Given the description of an element on the screen output the (x, y) to click on. 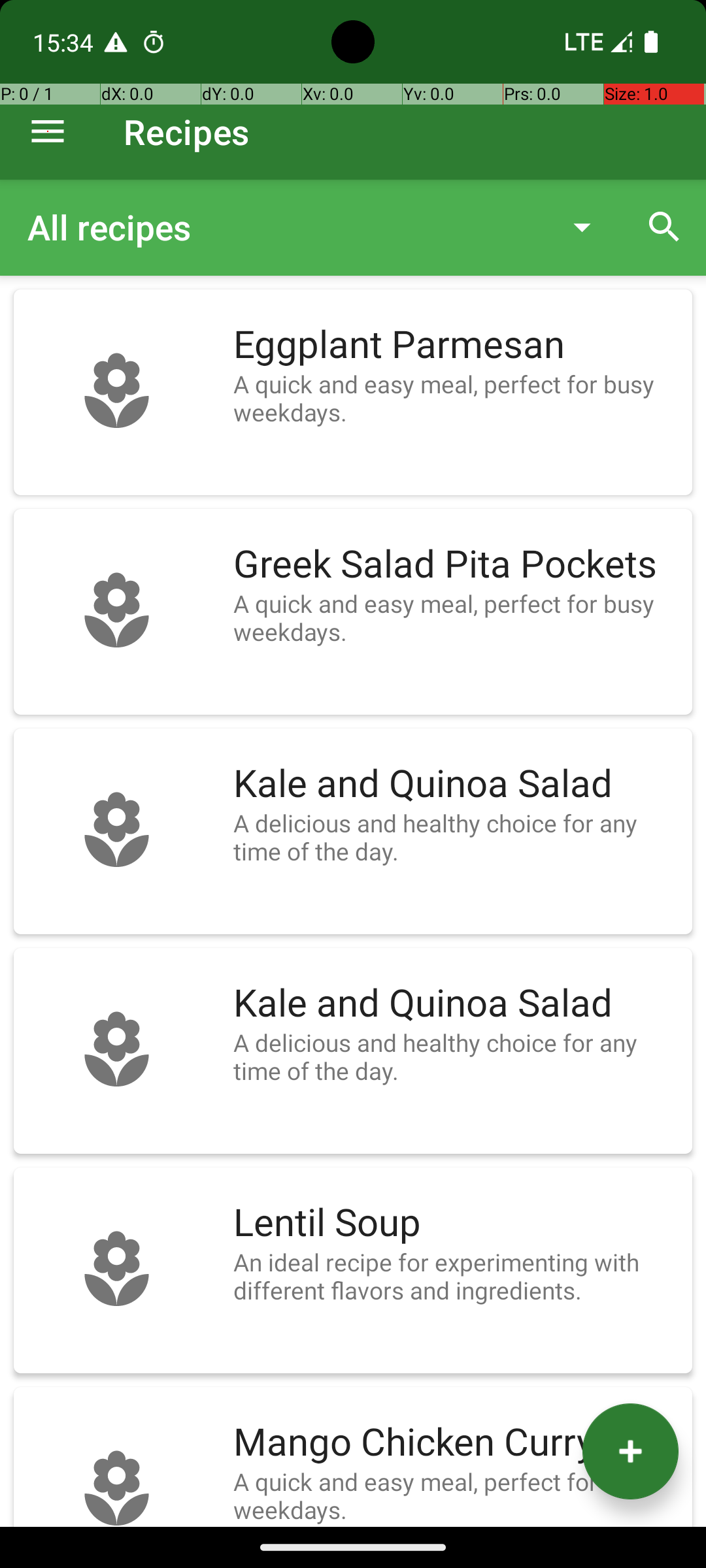
Eggplant Parmesan Element type: android.widget.TextView (455, 344)
Greek Salad Pita Pockets Element type: android.widget.TextView (455, 564)
Kale and Quinoa Salad Element type: android.widget.TextView (455, 783)
Lentil Soup Element type: android.widget.TextView (455, 1222)
Mango Chicken Curry Element type: android.widget.TextView (455, 1442)
